Given the description of an element on the screen output the (x, y) to click on. 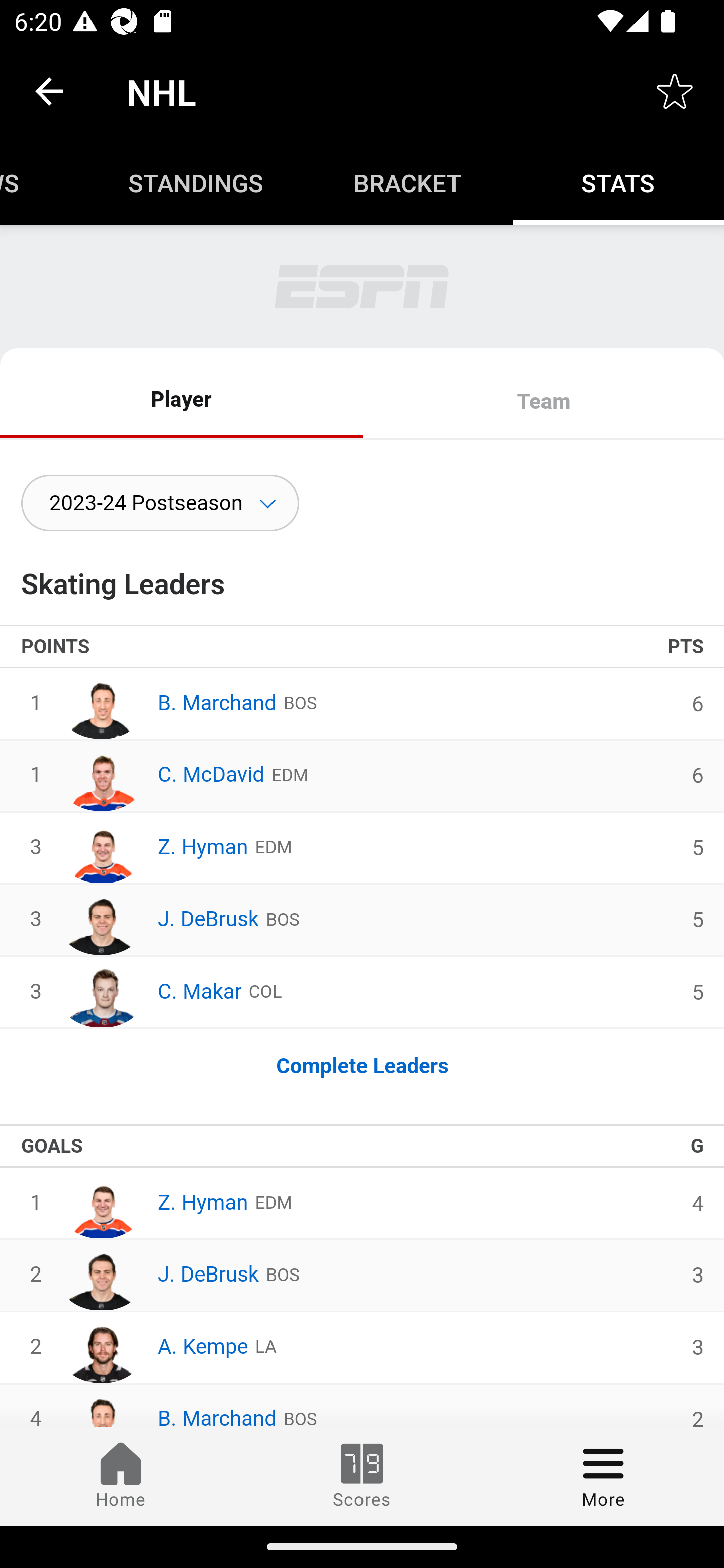
back.button (49, 90)
Favorite toggle (674, 90)
Standings STANDINGS (195, 183)
Bracket BRACKET (406, 183)
Player Player Player (182, 402)
Team Team Team (543, 402)
2023-24 Postseason (159, 503)
B. Marchand Brad Marchand B. Marchand (167, 702)
C. McDavid Connor McDavid C. McDavid (161, 775)
Z. Hyman Zach Hyman Z. Hyman (153, 848)
J. DeBrusk Jake DeBrusk J. DeBrusk (158, 919)
C. Makar Cale Makar C. Makar (149, 992)
Complete Leaders (362, 1066)
Z. Hyman Zach Hyman Z. Hyman (153, 1203)
J. DeBrusk Jake DeBrusk J. DeBrusk (158, 1275)
A. Kempe Adrian Kempe A. Kempe (153, 1347)
B. Marchand Brad Marchand B. Marchand (167, 1404)
Home (120, 1475)
Scores (361, 1475)
